Given the description of an element on the screen output the (x, y) to click on. 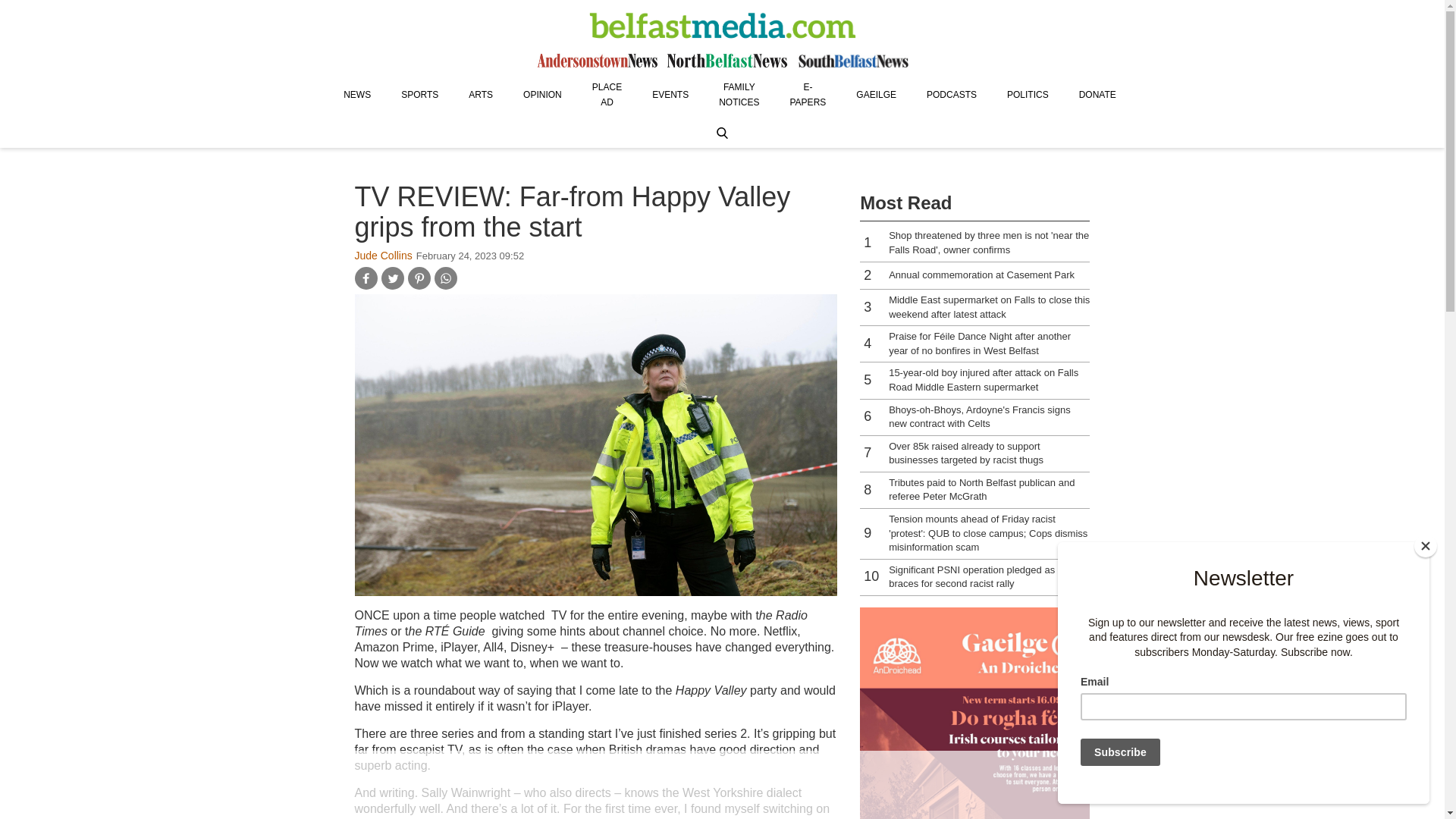
OPINION (542, 94)
SPORTS (418, 94)
ARTS (480, 94)
NEWS (357, 94)
